Given the description of an element on the screen output the (x, y) to click on. 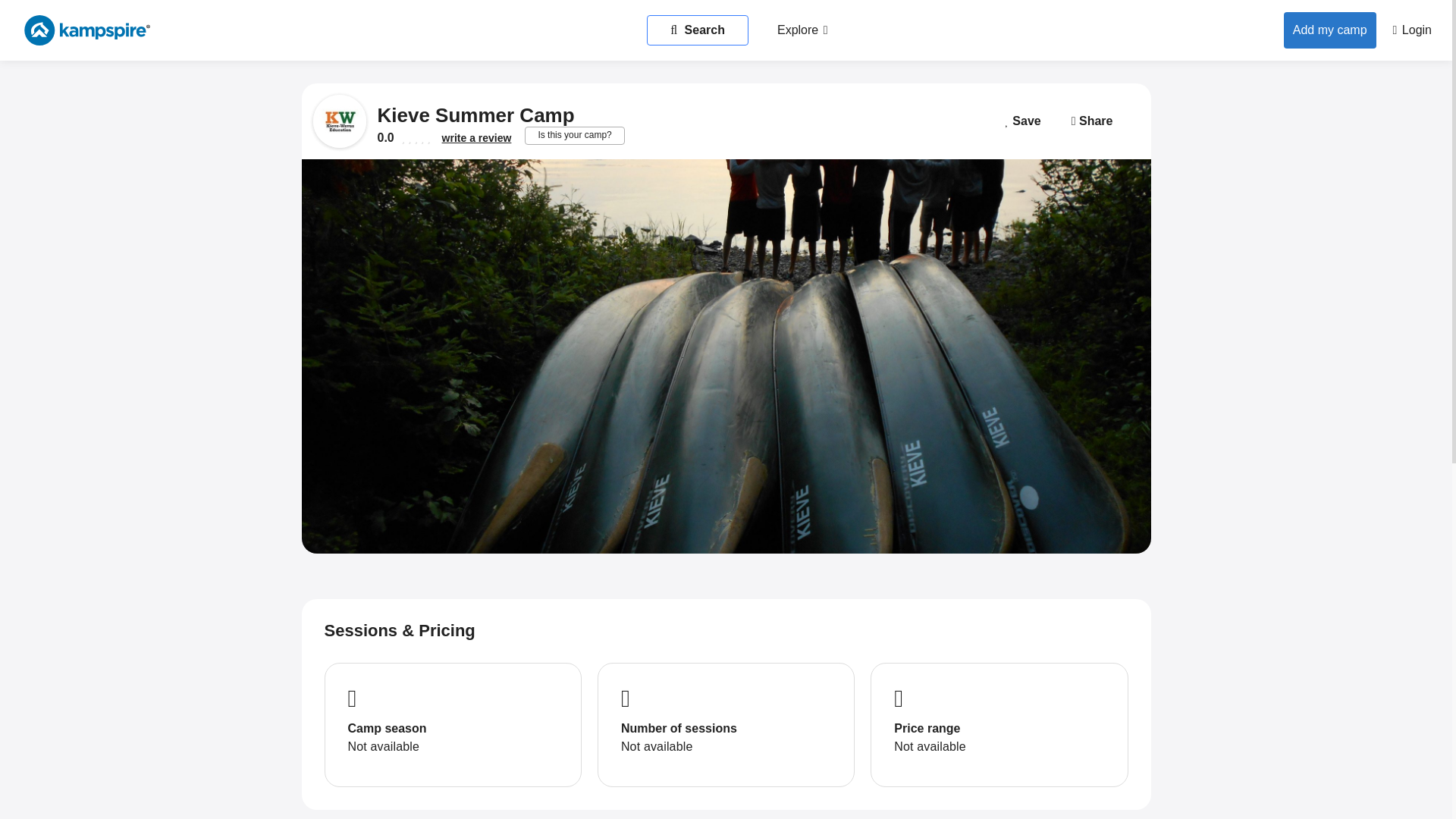
Is this your camp? (574, 135)
Brand Name (98, 30)
Save (1022, 121)
Add my camp (1329, 30)
write a review (477, 137)
Login (1412, 30)
Explore (802, 30)
Search (697, 30)
